Given the description of an element on the screen output the (x, y) to click on. 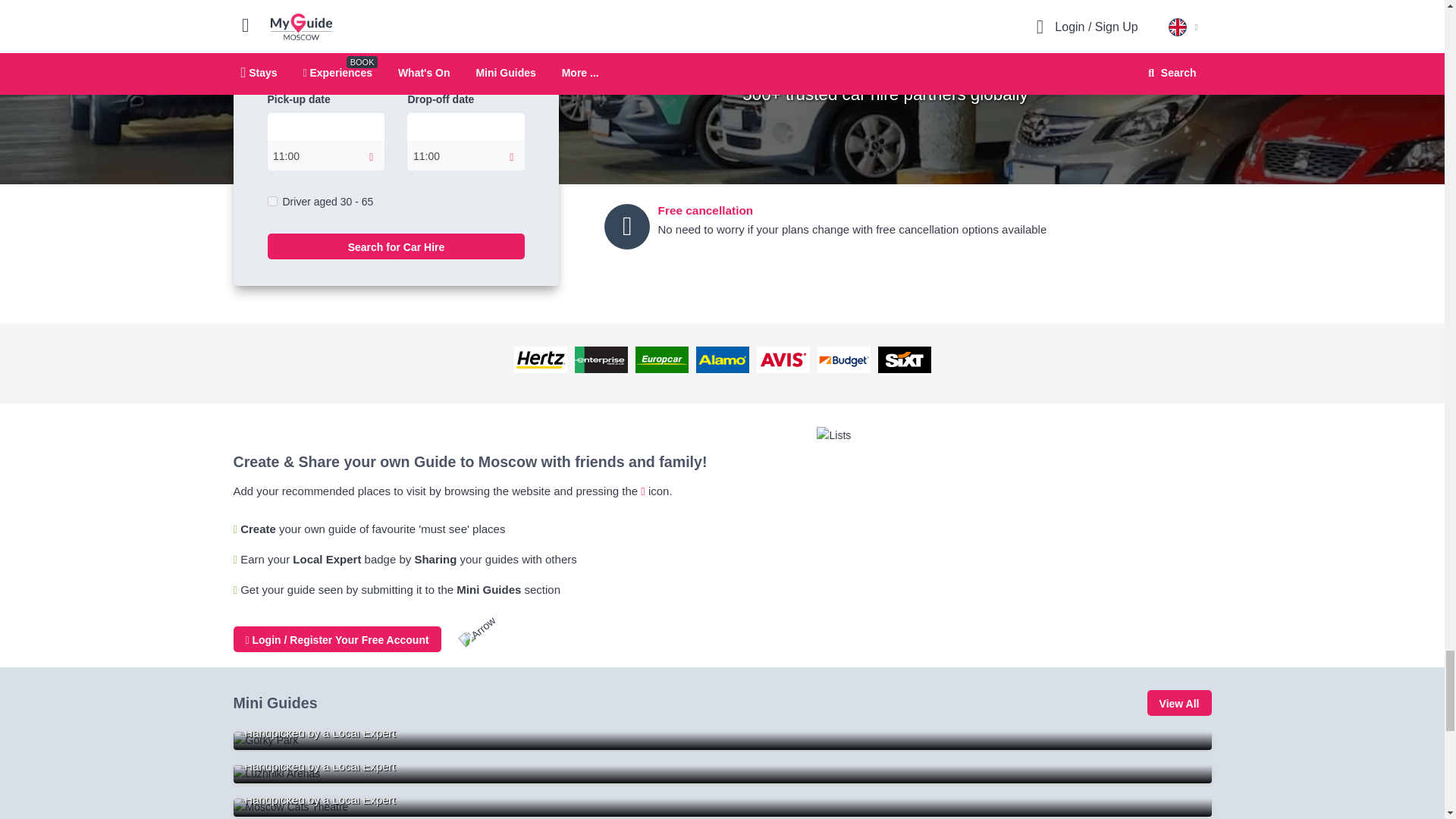
Places to watch the FIFA World Cup 2018 (721, 773)
on (271, 201)
Must See Places For First Timers (721, 741)
Best For Kids (721, 807)
